Given the description of an element on the screen output the (x, y) to click on. 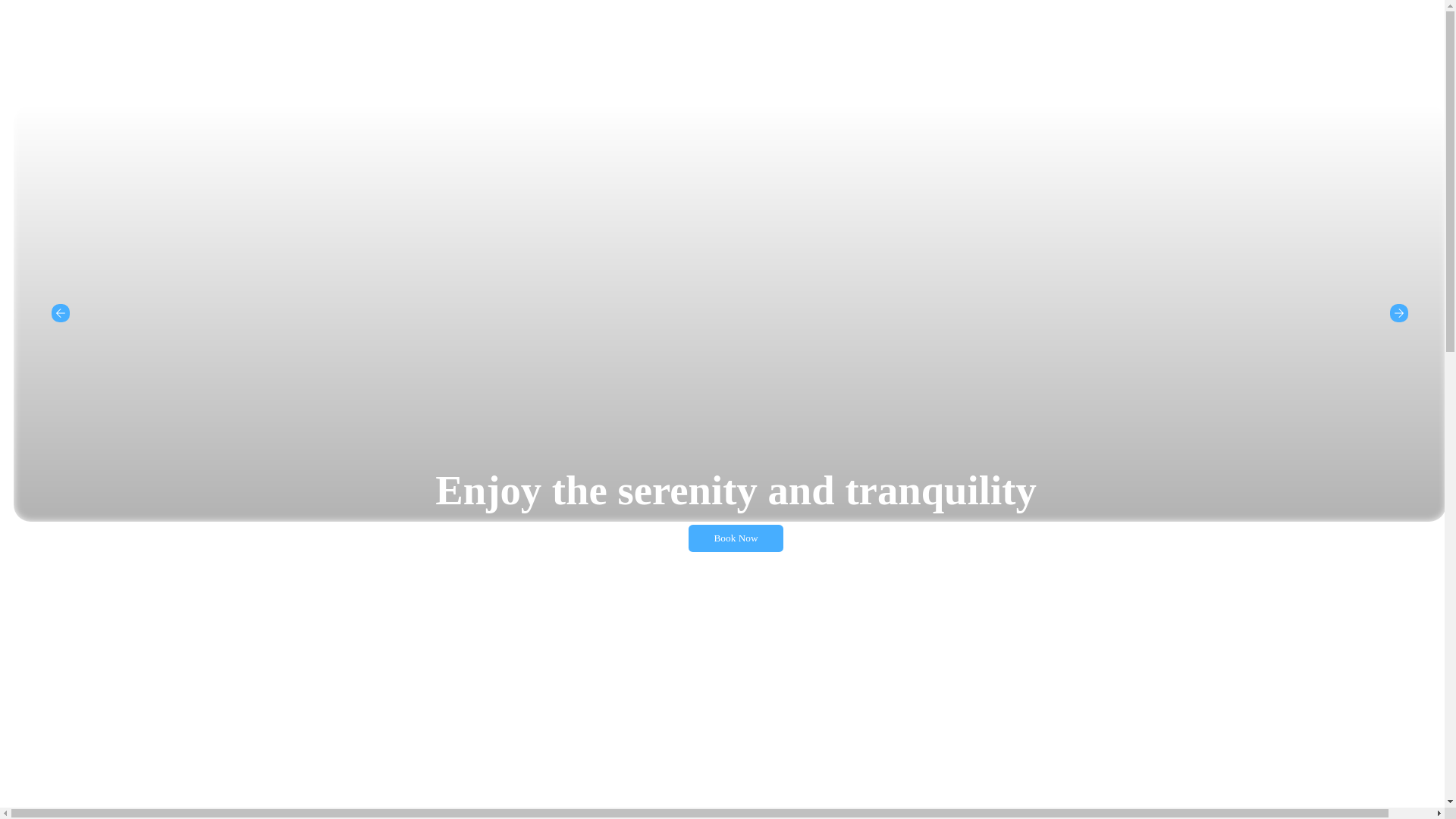
Book Now Element type: text (735, 538)
